Given the description of an element on the screen output the (x, y) to click on. 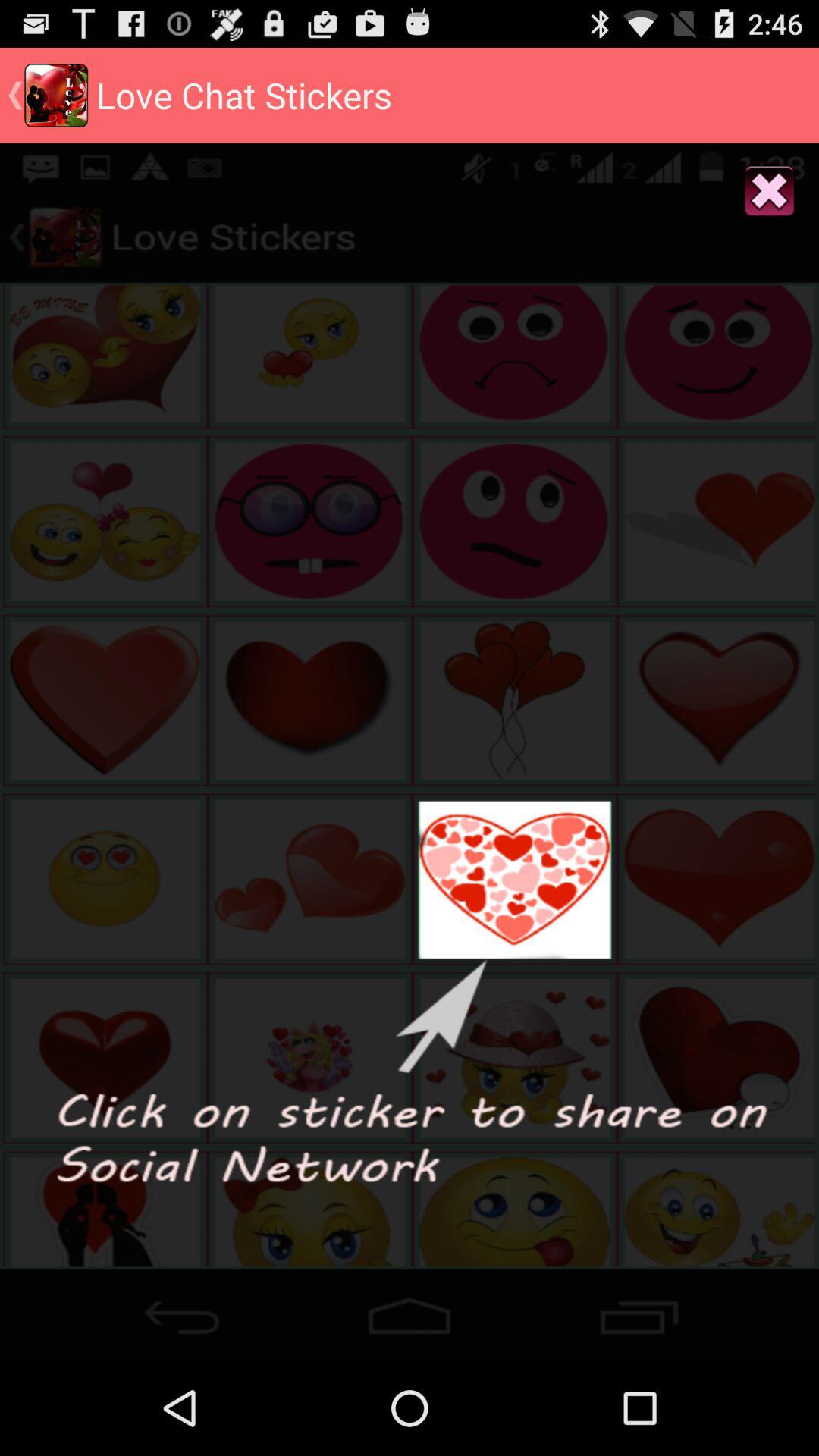
close button (769, 192)
